Given the description of an element on the screen output the (x, y) to click on. 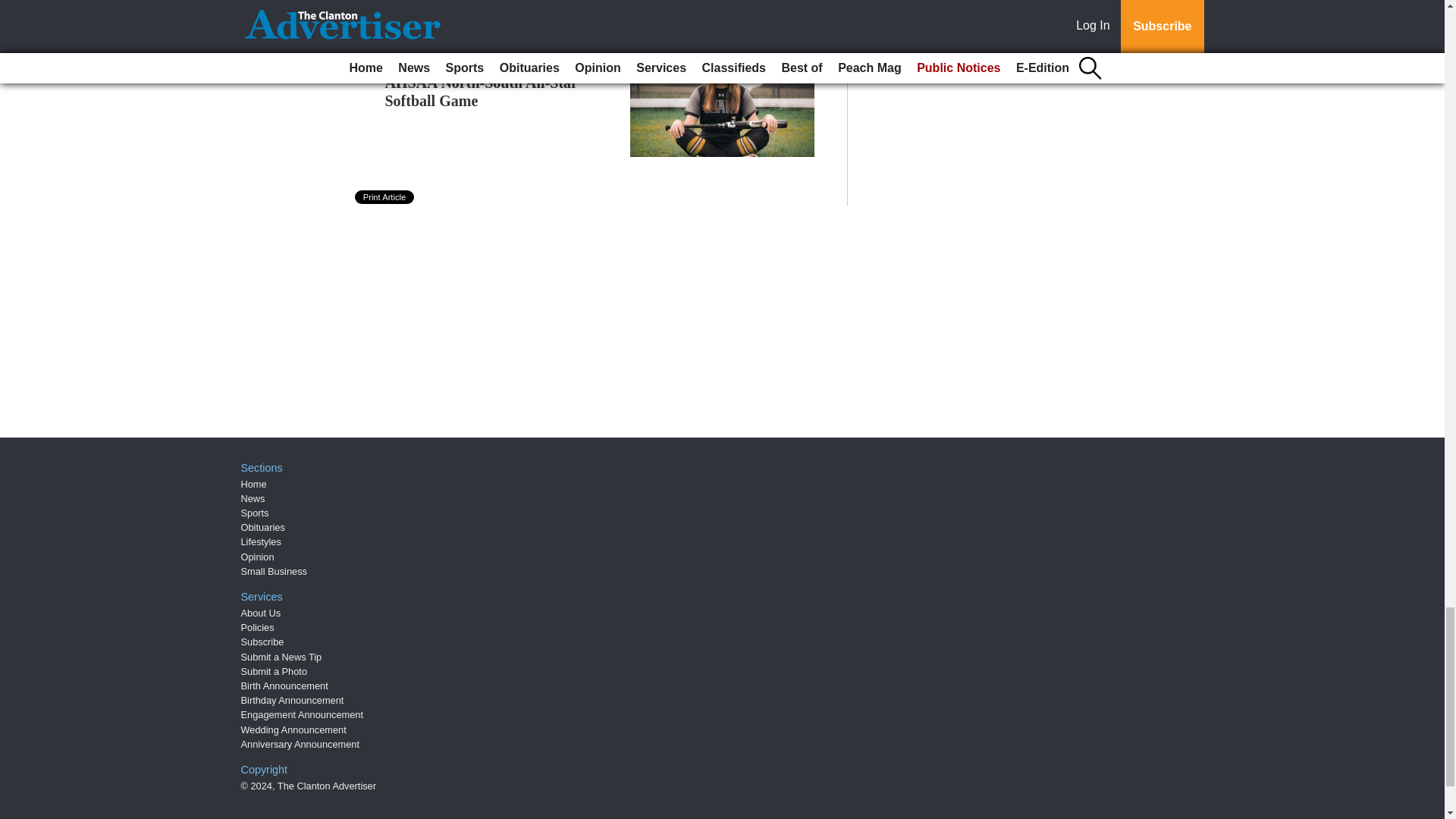
Print Article (384, 196)
Home (253, 483)
